Given the description of an element on the screen output the (x, y) to click on. 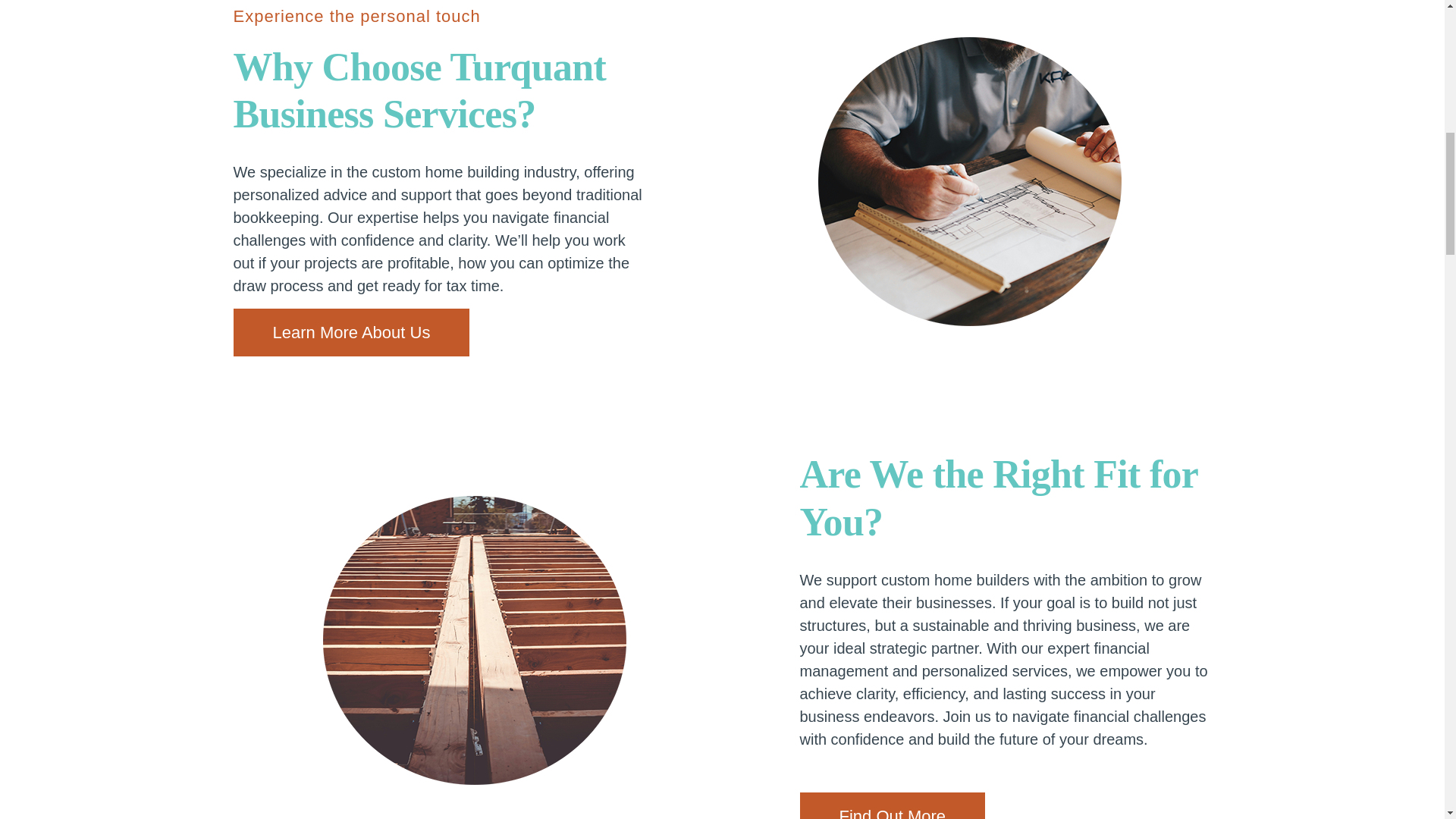
Learn More About Us (351, 332)
